Given the description of an element on the screen output the (x, y) to click on. 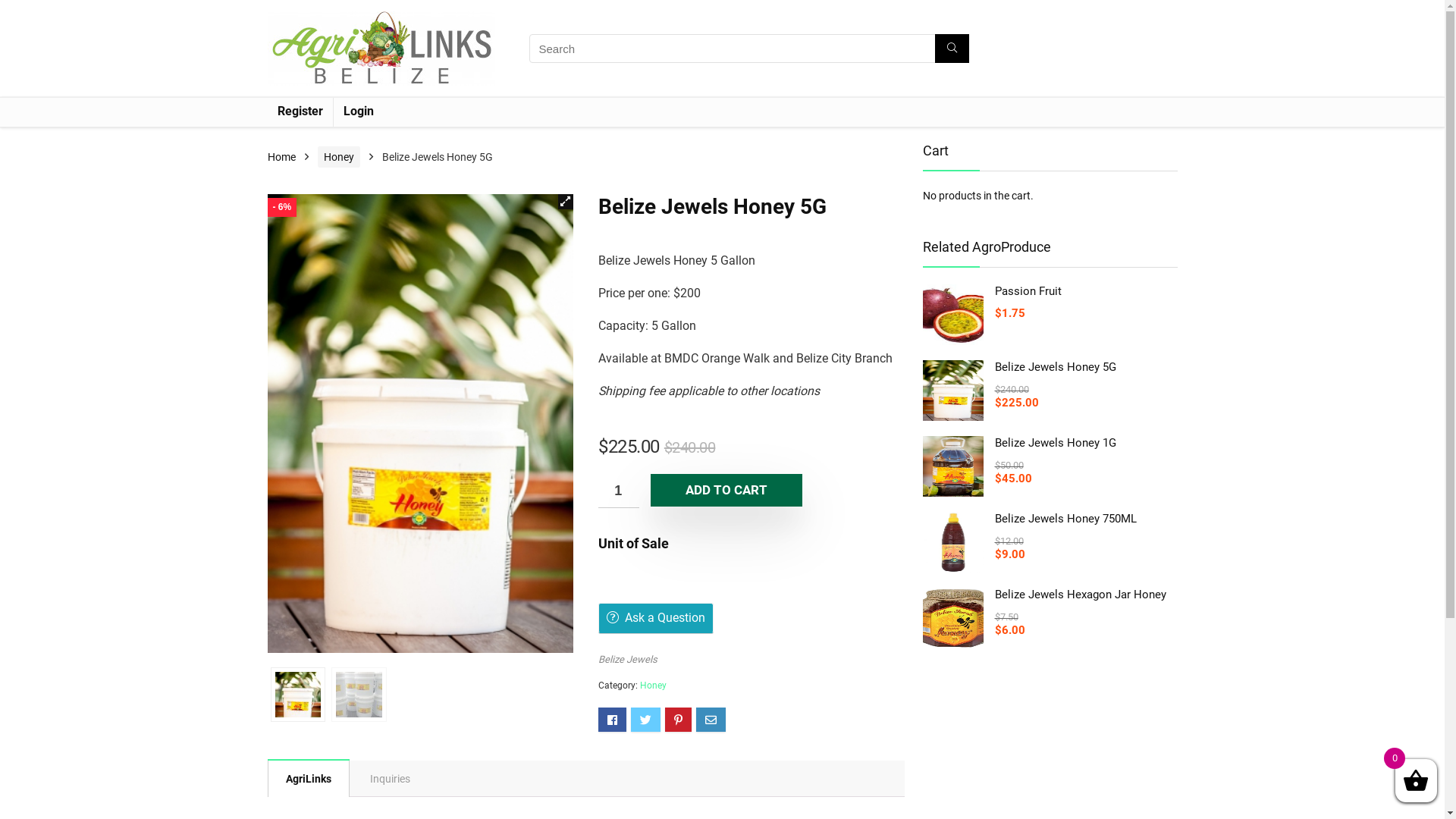
Belize Jewels Honey 5G Element type: text (1049, 366)
5 Gallon Element type: hover (419, 423)
Qty Element type: hover (618, 490)
Inquiries Element type: text (388, 778)
Belize Jewels Element type: text (627, 659)
Honey Element type: text (337, 156)
Belize Jewels Hexagon Jar Honey Element type: text (1049, 594)
Belize Jewels Honey 1G Element type: text (1049, 442)
Passion Fruit Element type: text (1049, 291)
  Ask a Question Element type: text (655, 617)
Login Element type: text (358, 111)
ADD TO CART Element type: text (726, 489)
Home Element type: text (280, 156)
Belize Jewels Honey 750ML Element type: text (1049, 518)
AgriLinks Element type: text (307, 778)
Register Element type: text (299, 111)
Honey Element type: text (653, 685)
